Given the description of an element on the screen output the (x, y) to click on. 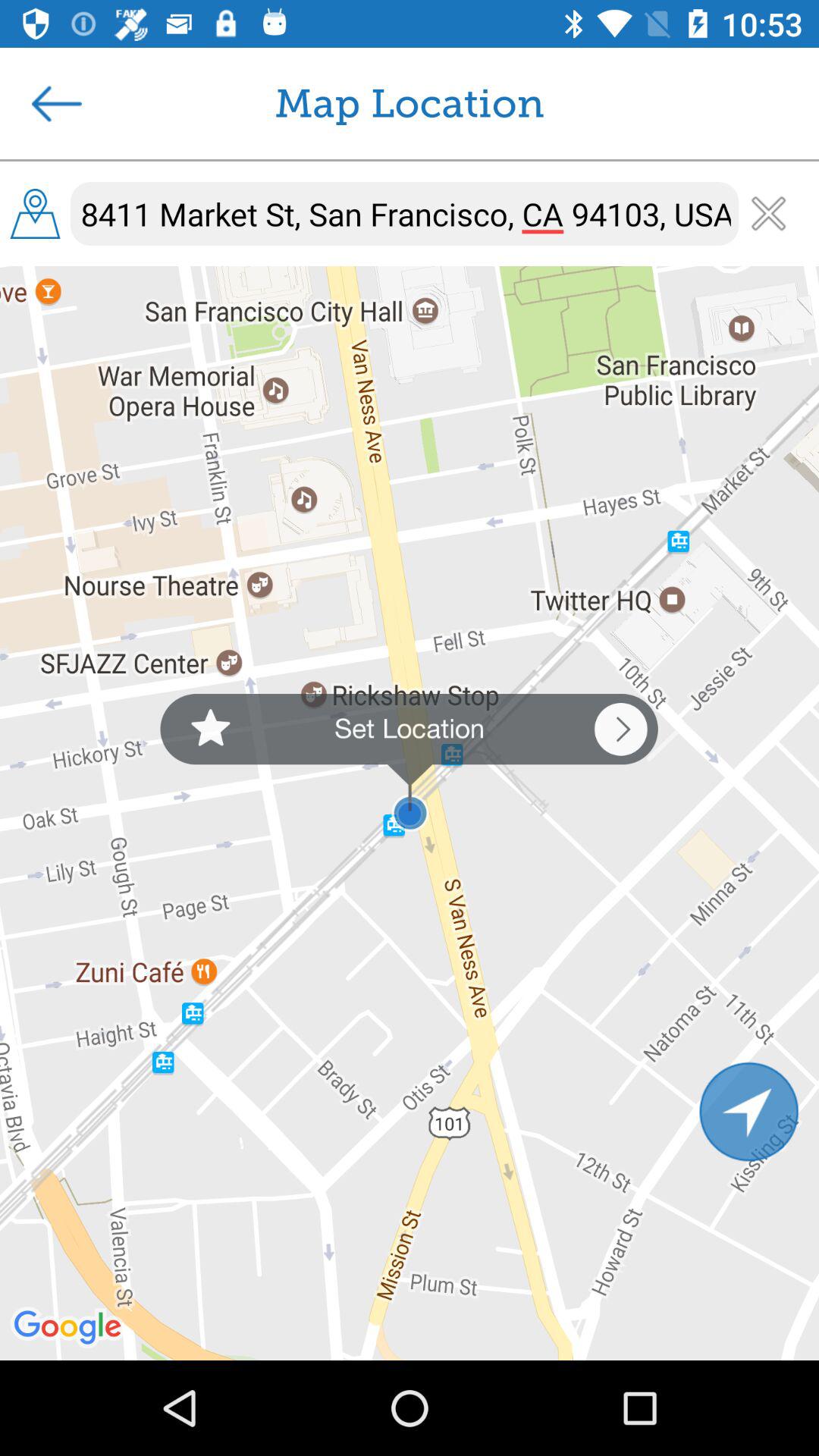
clear address (768, 213)
